Given the description of an element on the screen output the (x, y) to click on. 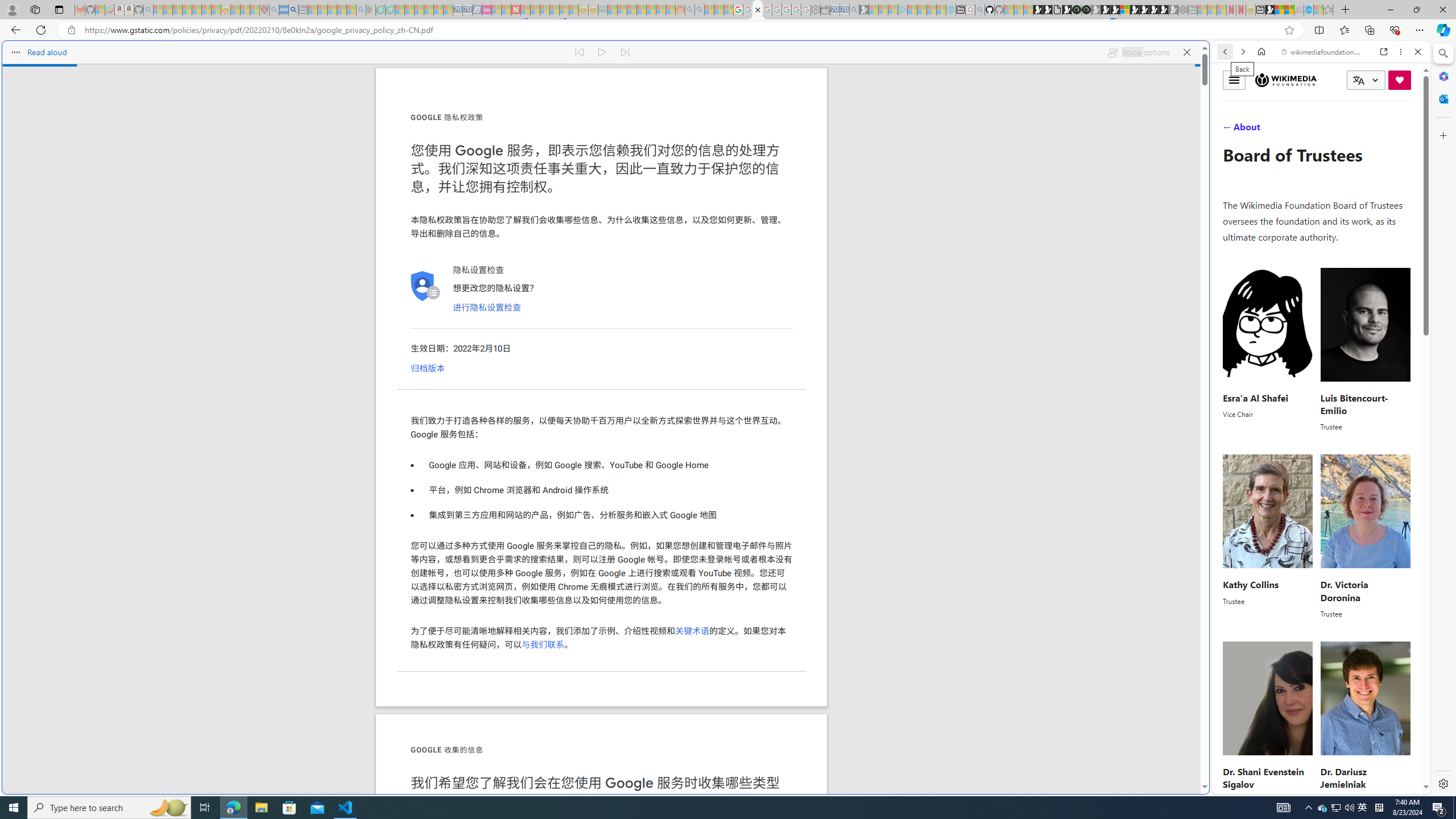
Luis Bitencourt-Emilio (1354, 403)
Dr. Victoria DoroninaTrustee (1365, 536)
wikimediafoundation.org (1323, 51)
